Given the description of an element on the screen output the (x, y) to click on. 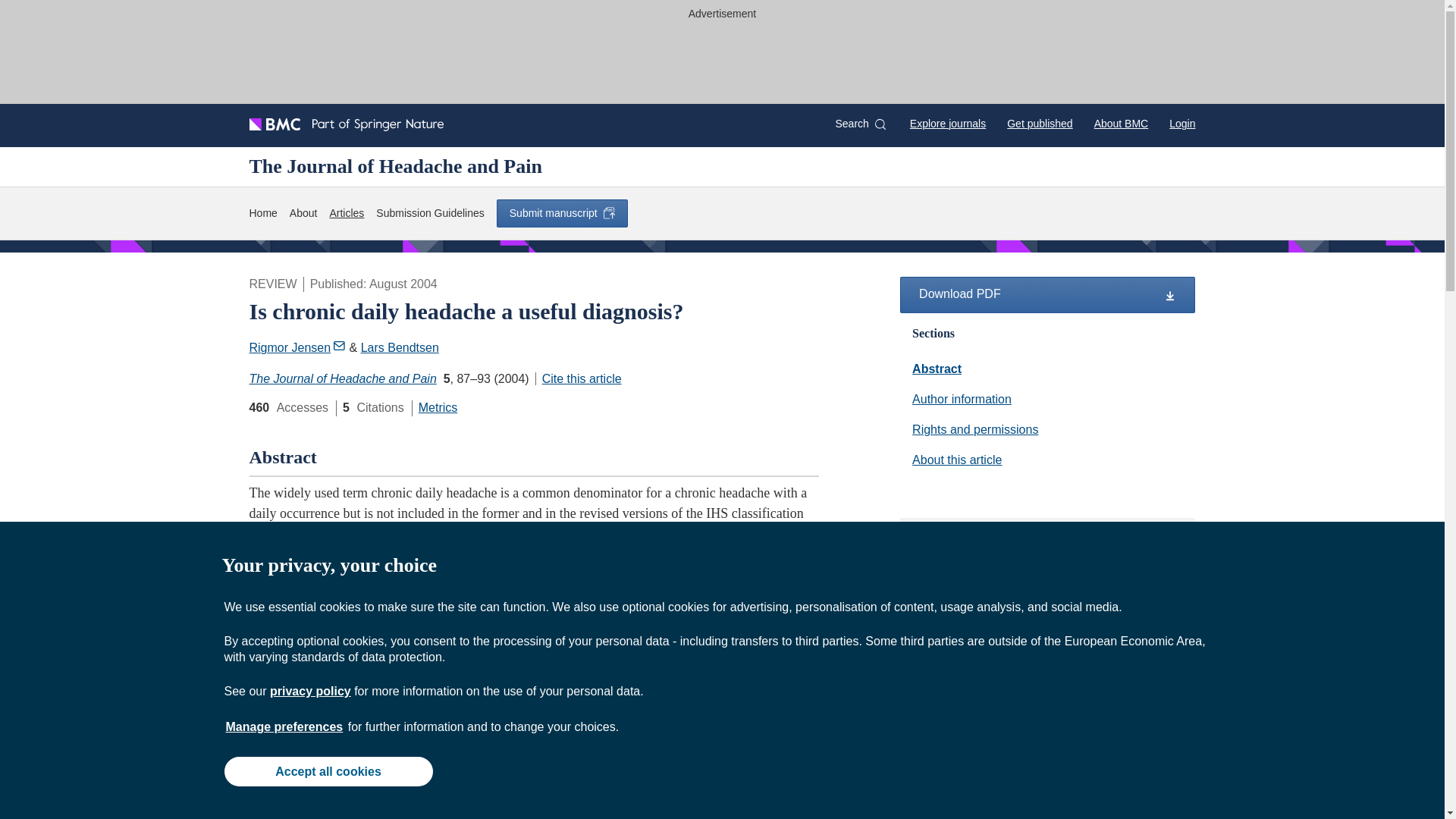
Explore journals (947, 123)
About BMC (1121, 123)
privacy policy (309, 690)
Submission Guidelines (429, 212)
Cite this article (578, 378)
Submit manuscript (561, 212)
Articles (346, 212)
3rd party ad content (1047, 637)
The Journal of Headache and Pain (394, 166)
Rigmor Jensen (297, 347)
